Given the description of an element on the screen output the (x, y) to click on. 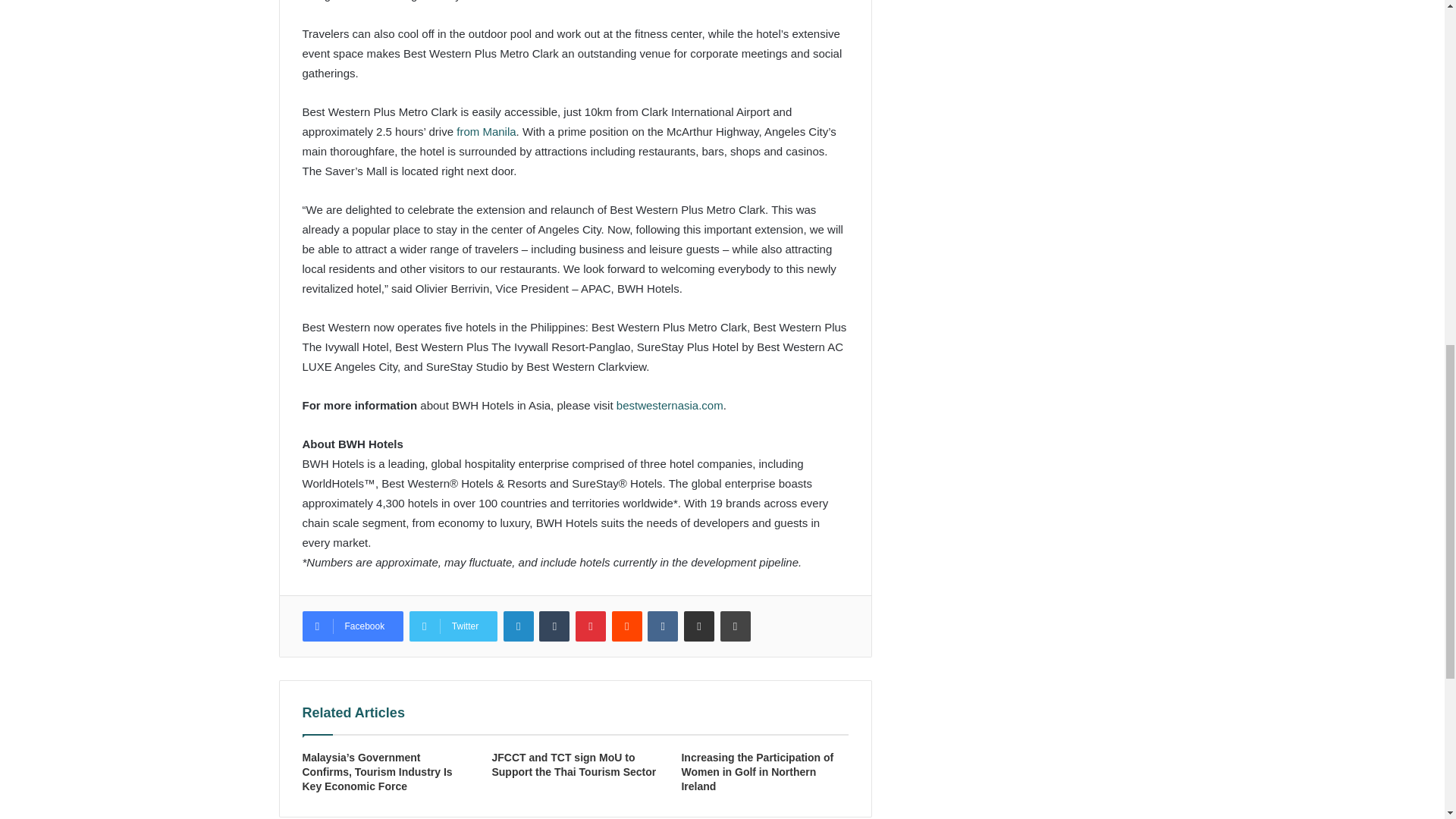
LinkedIn (518, 625)
Reddit (626, 625)
VKontakte (662, 625)
Share via Email (699, 625)
Tumblr (553, 625)
Facebook (352, 625)
Pinterest (590, 625)
Twitter (453, 625)
Print (735, 625)
